Given the description of an element on the screen output the (x, y) to click on. 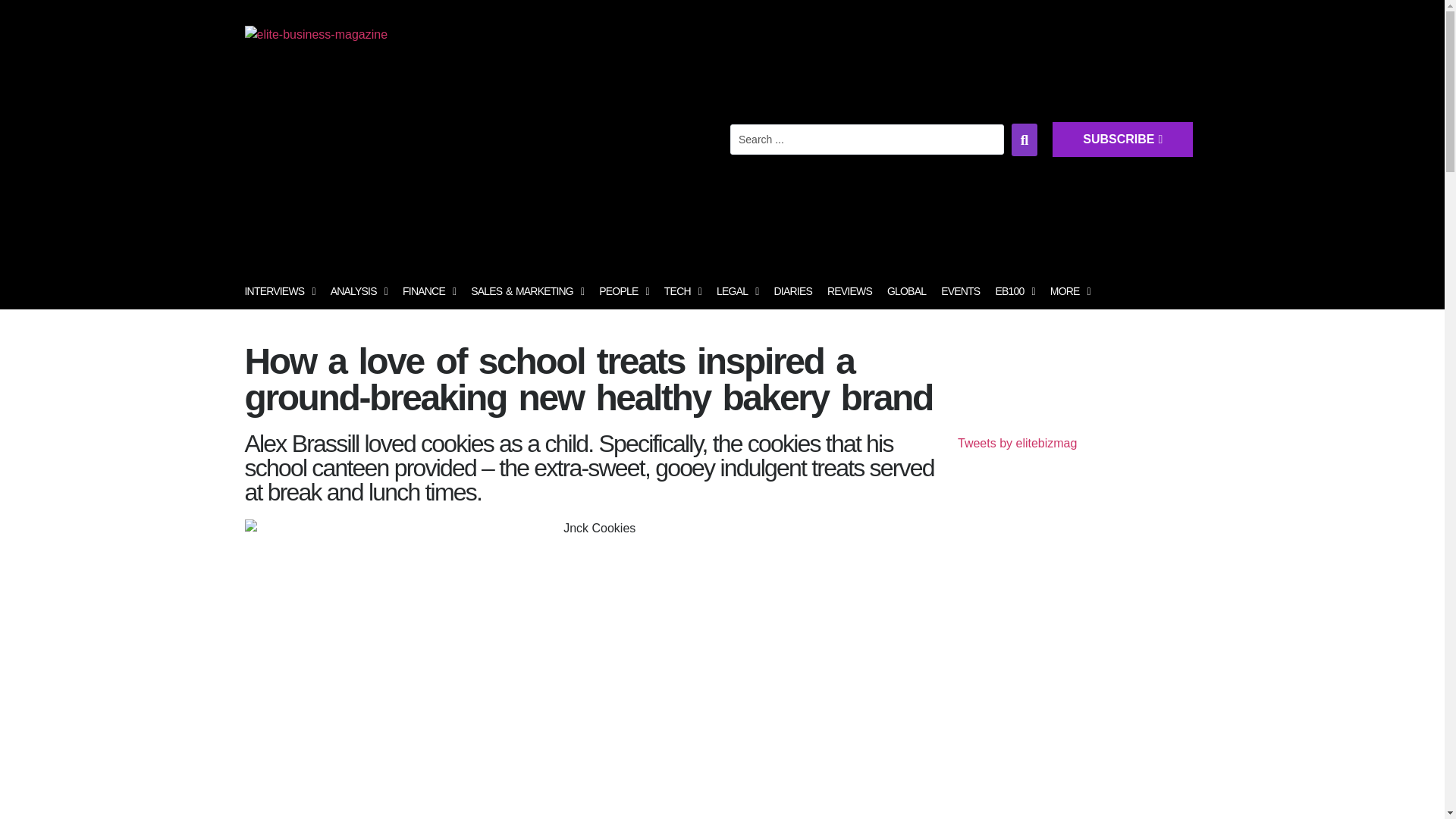
INTERVIEWS (278, 291)
FINANCE (428, 291)
SUBSCRIBE (1275, 154)
PEOPLE (623, 291)
ANALYSIS (358, 291)
TECH (682, 291)
